Given the description of an element on the screen output the (x, y) to click on. 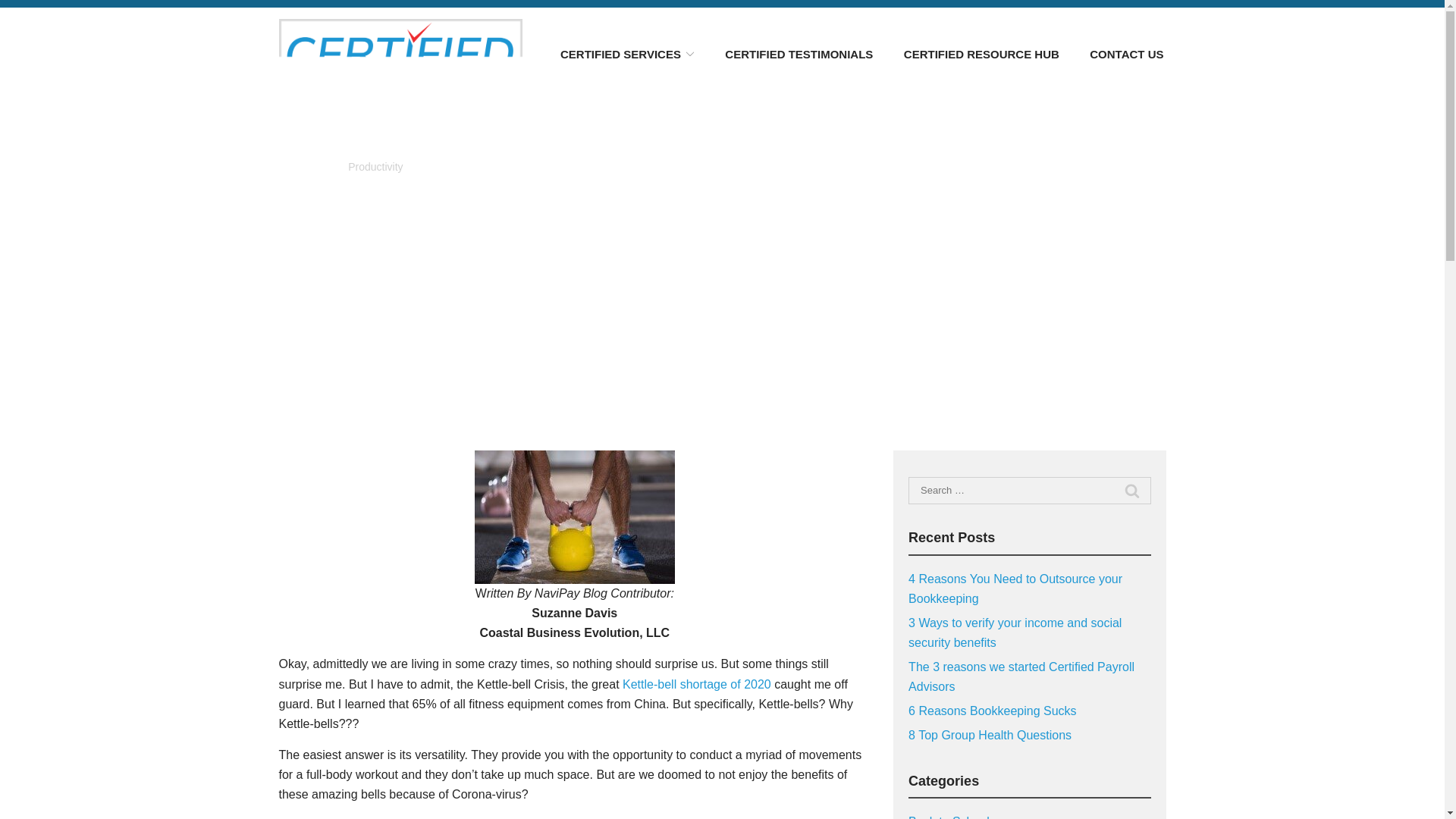
Kettle-bell shortage of 2020 (697, 684)
Productivity (375, 166)
CERTIFIED RESOURCE HUB (981, 53)
CERTIFIED SERVICES (627, 53)
CERTIFIED TESTIMONIALS (798, 53)
CONTACT US (1126, 53)
